Given the description of an element on the screen output the (x, y) to click on. 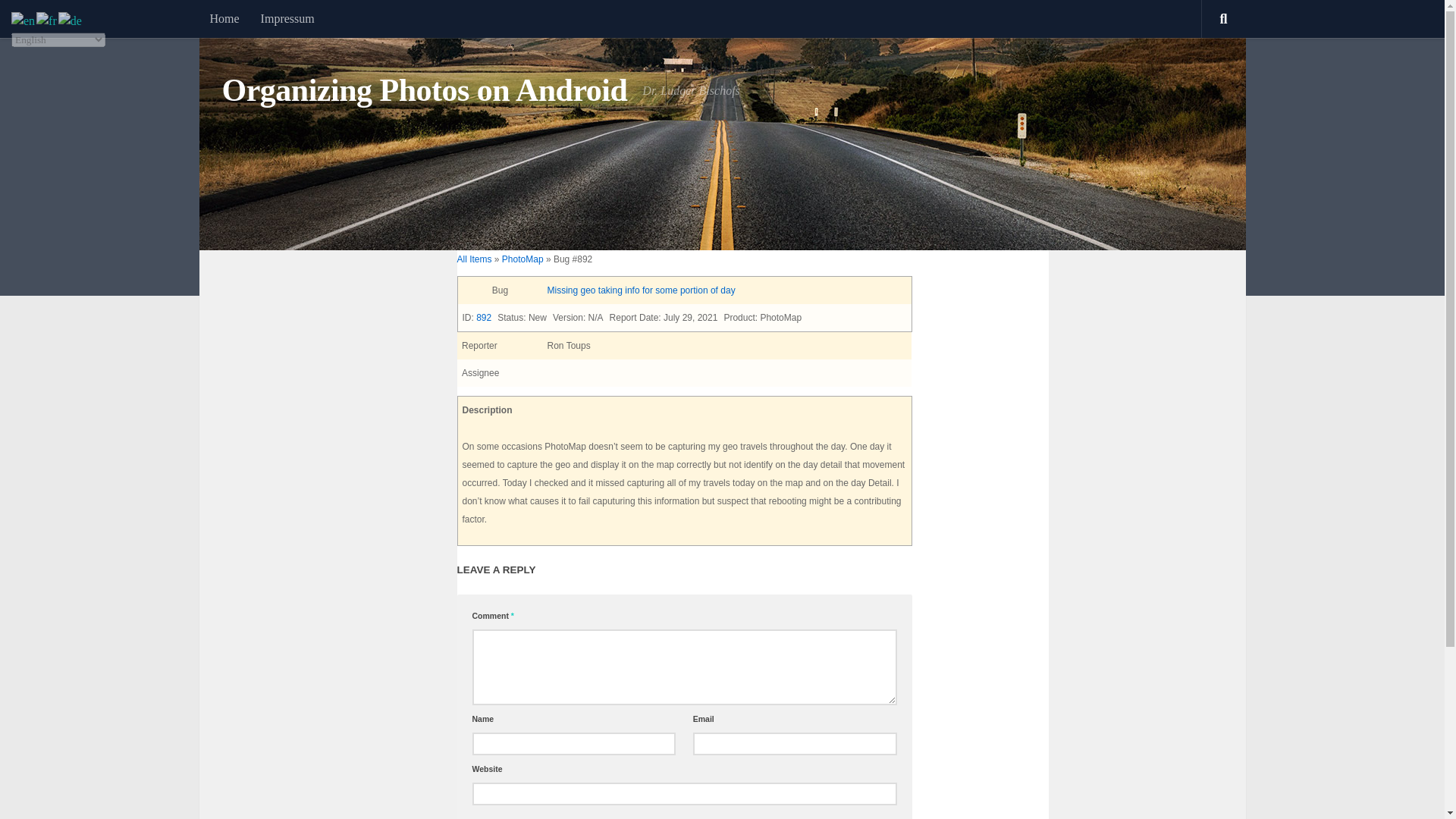
English (23, 19)
Missing geo taking info for some portion of day (641, 290)
Impressum (287, 18)
PhotoMap (522, 258)
Home (223, 18)
Skip to content (59, 20)
All Items (474, 258)
Organizing Photos on Android (424, 90)
892 (484, 317)
